Given the description of an element on the screen output the (x, y) to click on. 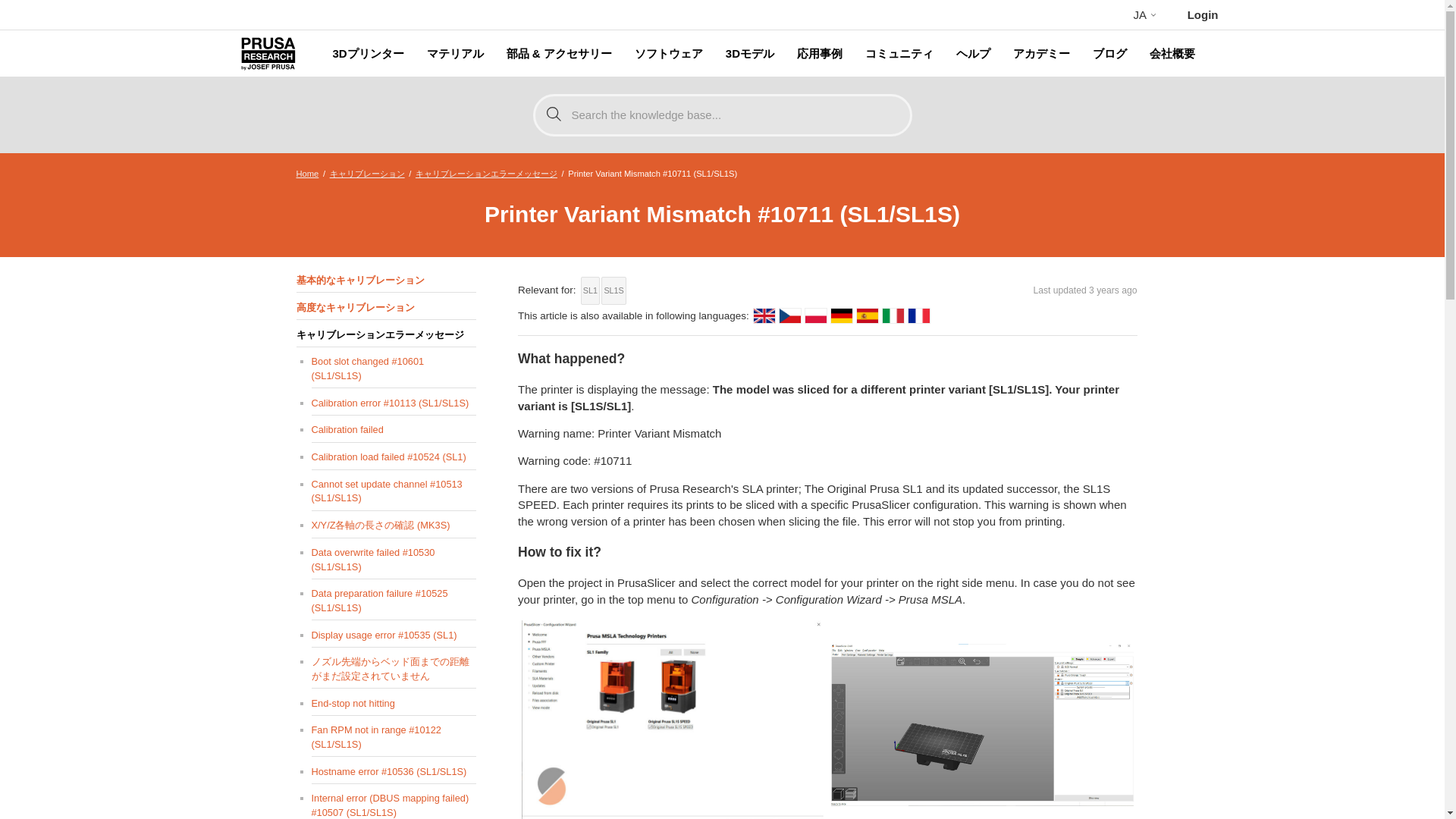
Home (306, 173)
Calibration failed (393, 429)
EN (764, 315)
PL (816, 315)
ES (867, 315)
IT (893, 315)
CS (789, 315)
DE (841, 315)
Login (1203, 14)
FR (919, 315)
End-stop not hitting (393, 703)
